Given the description of an element on the screen output the (x, y) to click on. 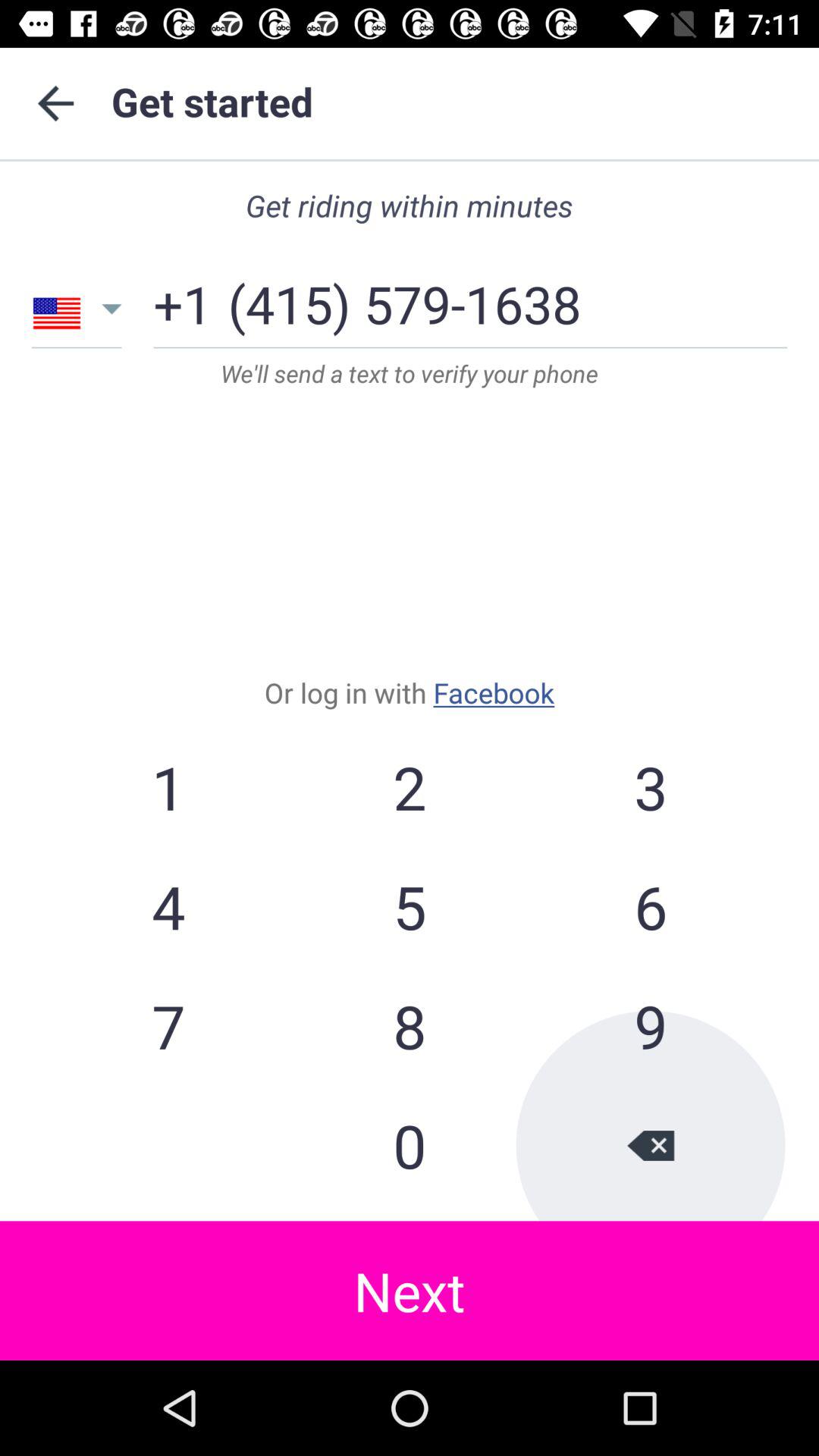
open icon below the 2 (650, 906)
